Given the description of an element on the screen output the (x, y) to click on. 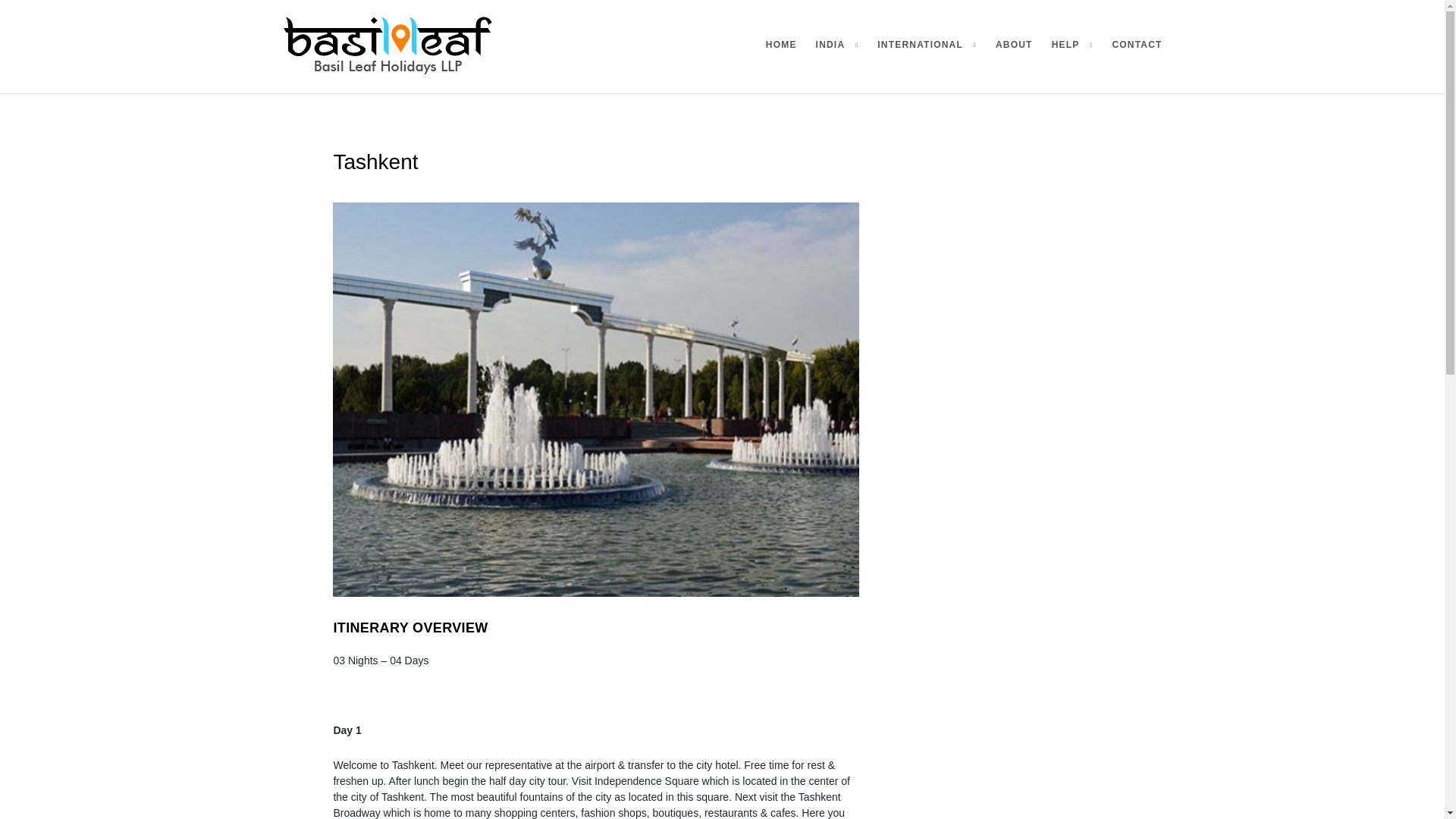
INTERNATIONAL (926, 45)
INDIA (837, 45)
HOME (780, 45)
